Given the description of an element on the screen output the (x, y) to click on. 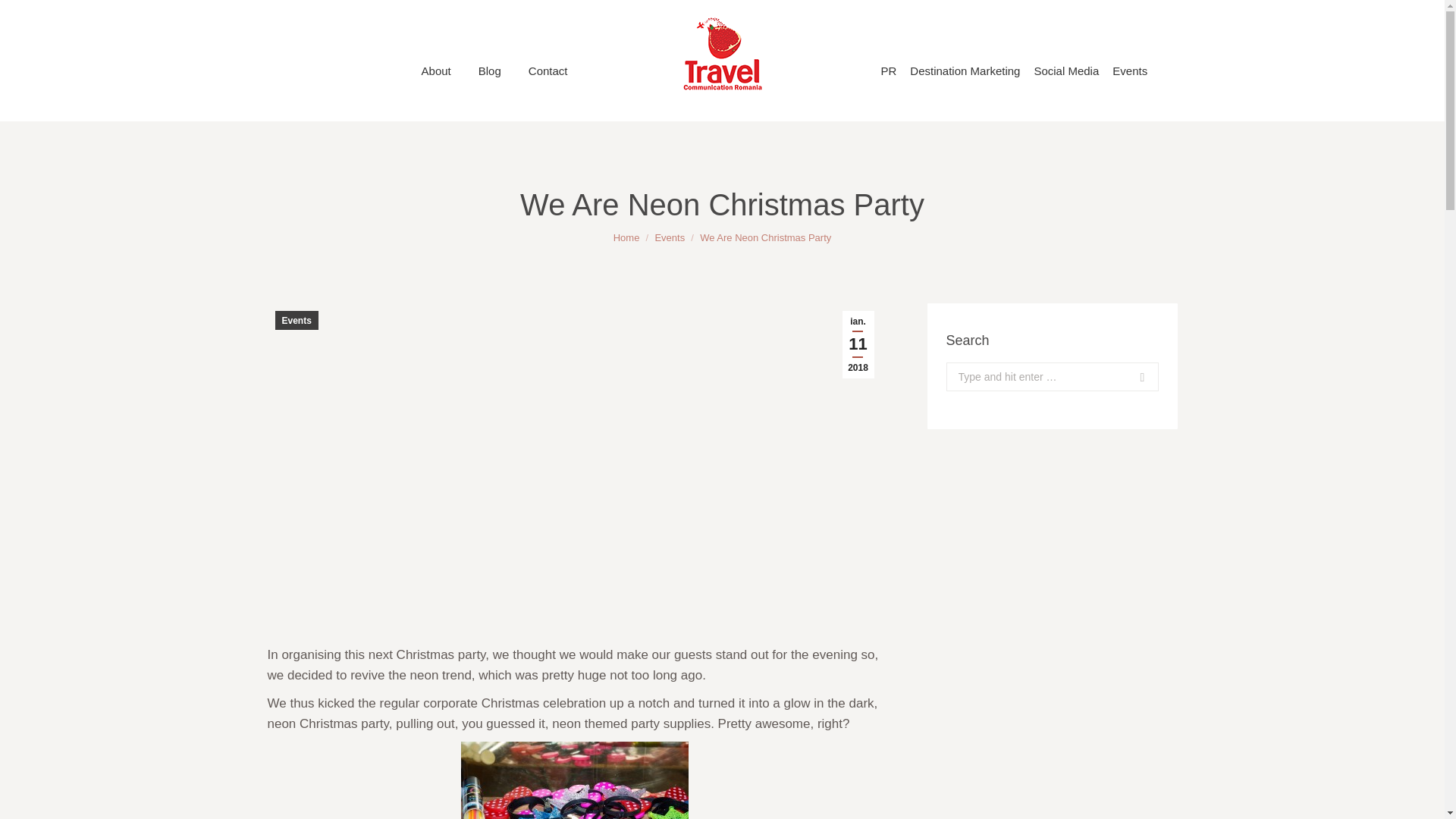
Events (296, 320)
Social Media (1066, 70)
Go! (1126, 376)
Go! (1126, 376)
Destination Marketing (965, 70)
Events (668, 237)
Home (626, 237)
